Given the description of an element on the screen output the (x, y) to click on. 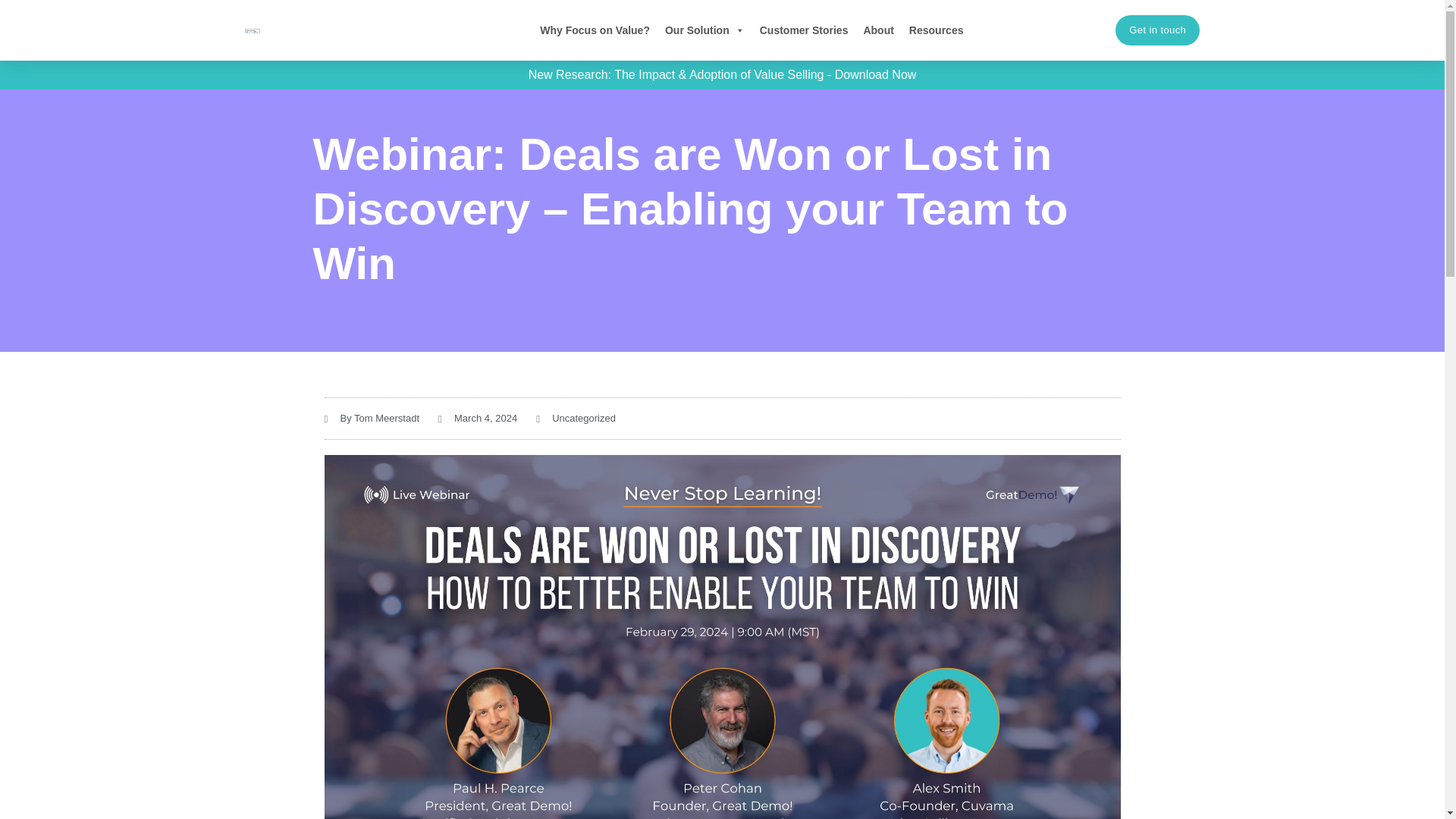
About (878, 30)
Get in touch (1157, 30)
Our Solution (705, 30)
Resources (936, 30)
Customer Stories (804, 30)
Why Focus on Value? (595, 30)
